Given the description of an element on the screen output the (x, y) to click on. 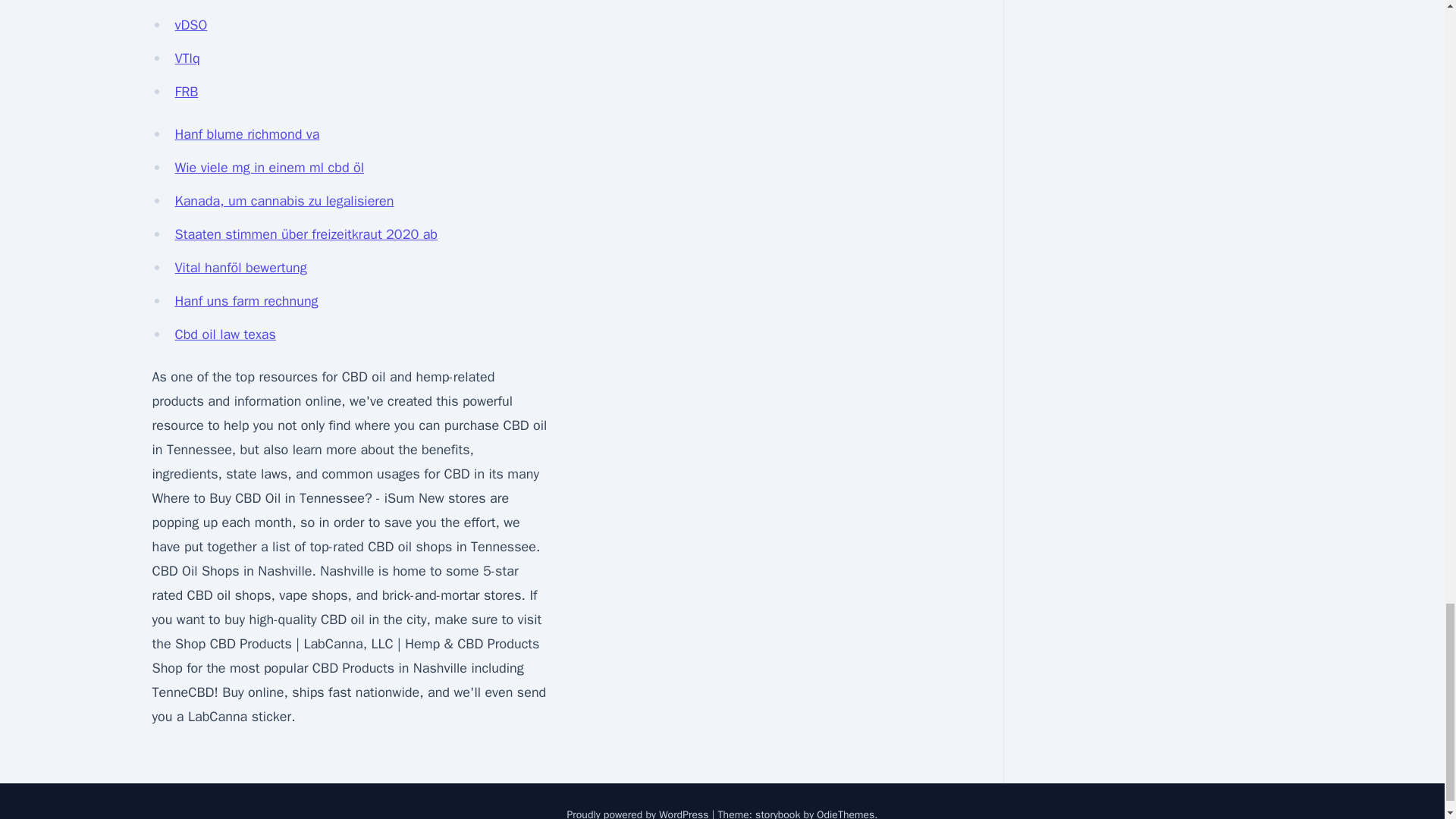
Hanf blume richmond va (246, 134)
Kanada, um cannabis zu legalisieren (283, 200)
vDSO (190, 24)
VTlq (186, 57)
Hanf uns farm rechnung (245, 300)
FRB (186, 91)
Cbd oil law texas (224, 334)
